Given the description of an element on the screen output the (x, y) to click on. 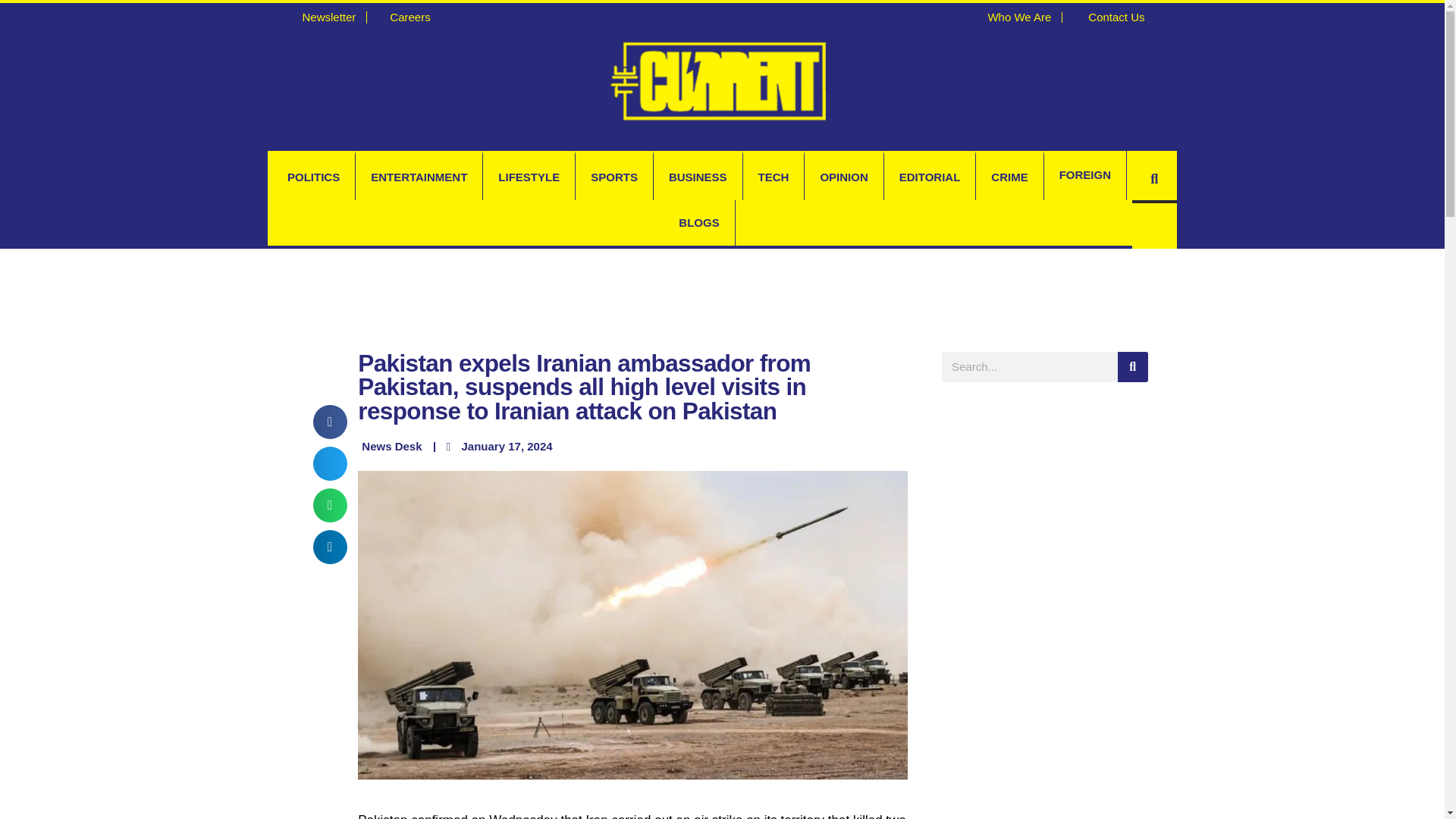
Newsletter (322, 17)
FOREIGN (1084, 174)
Contact Us (1108, 17)
OPINION (843, 176)
Careers (403, 17)
Who We Are (1011, 17)
TECH (773, 176)
BLOGS (698, 222)
POLITICS (313, 176)
BUSINESS (697, 176)
